Given the description of an element on the screen output the (x, y) to click on. 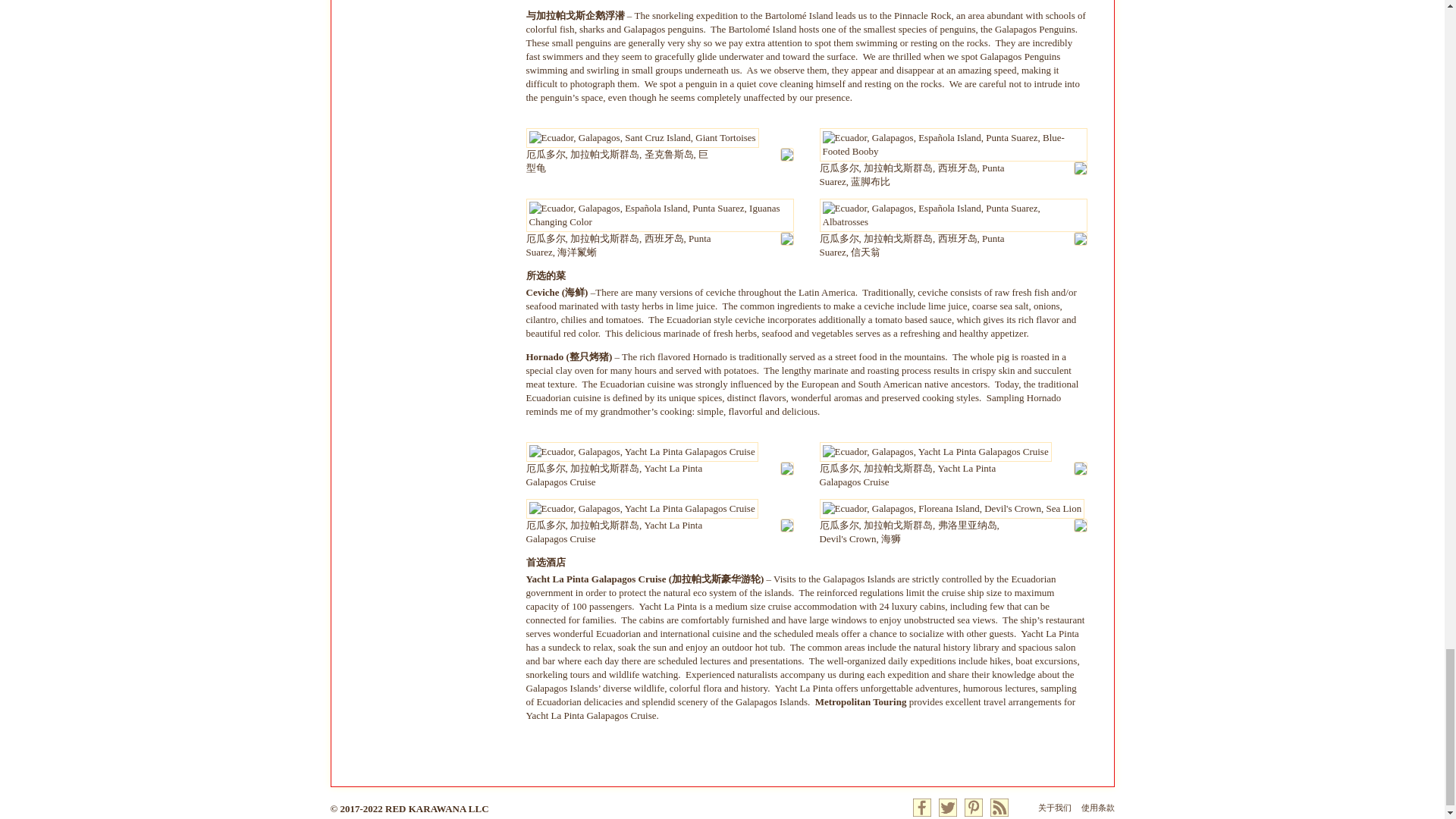
 RSS (999, 807)
 Twitter (947, 807)
 Pinterest (972, 807)
 Facebook (921, 807)
